Given the description of an element on the screen output the (x, y) to click on. 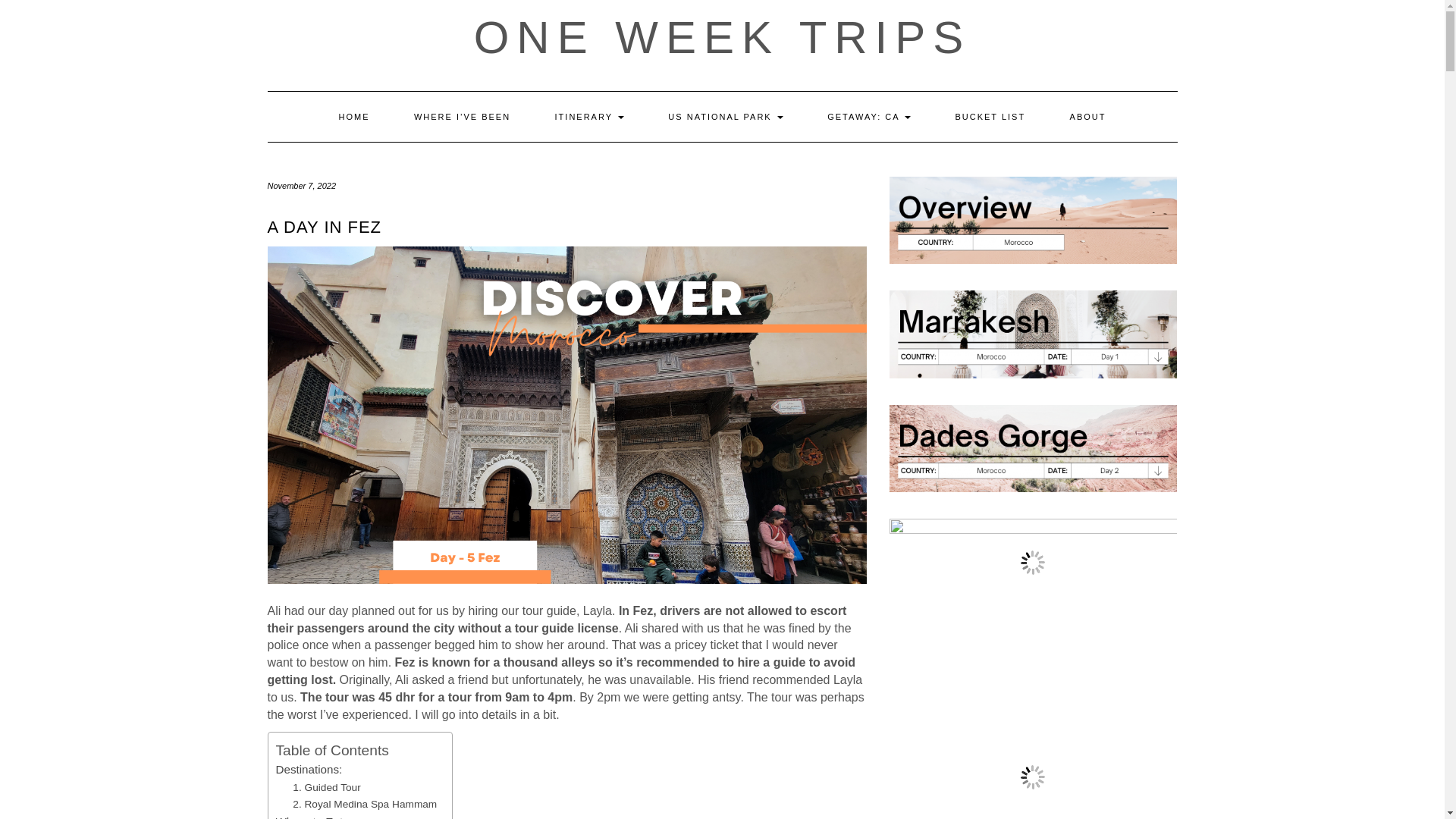
Destinations: (309, 769)
ONE WEEK TRIPS (722, 37)
2. Royal Medina Spa Hammam (364, 804)
1. Guided Tour (325, 787)
HOME (353, 116)
Where to Eat: (311, 816)
ITINERARY (589, 116)
